Given the description of an element on the screen output the (x, y) to click on. 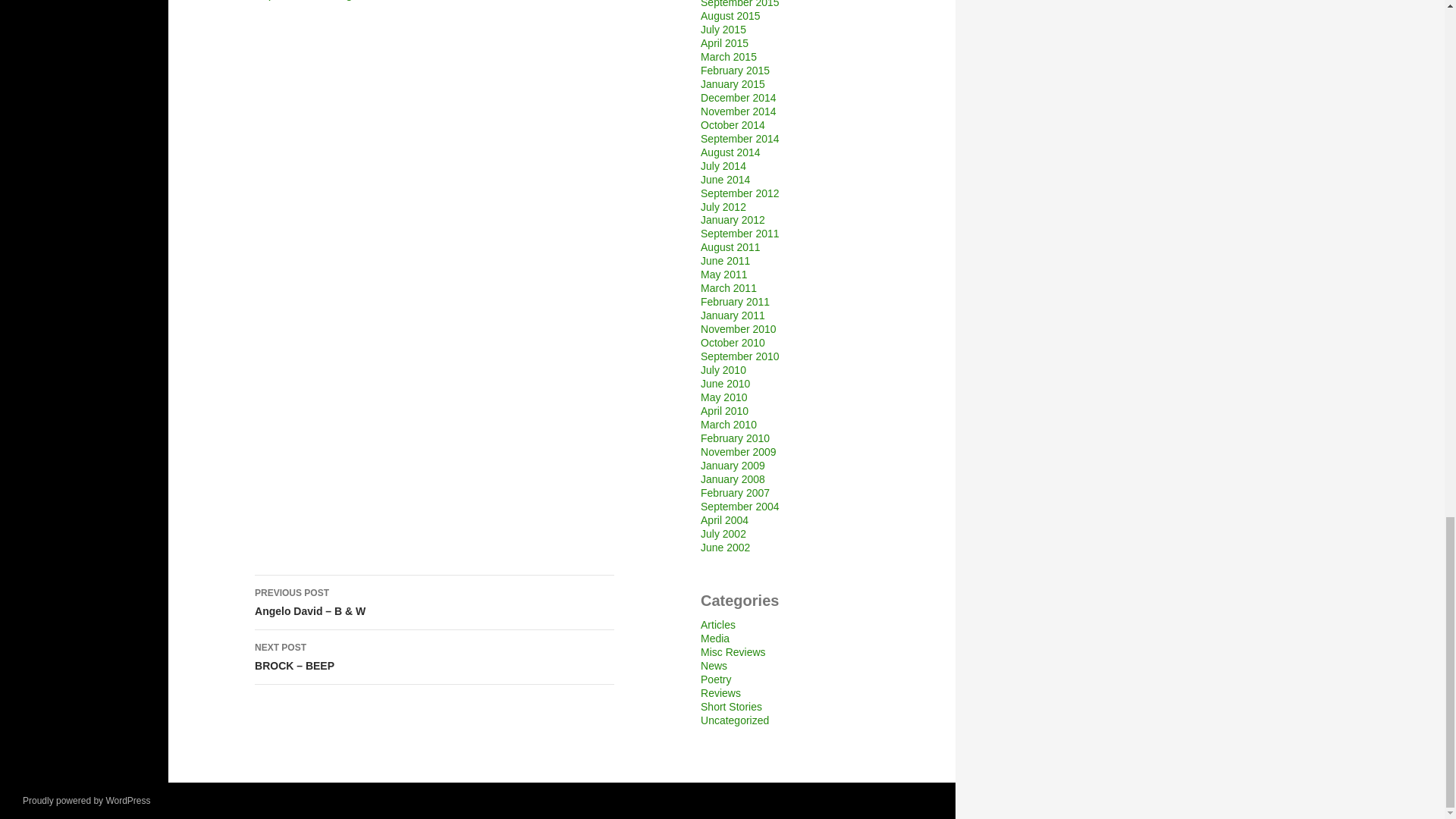
Spotify Embed: For Your Eyes Only (434, 155)
Boomerang by Nikia RnB PoP (434, 413)
